Given the description of an element on the screen output the (x, y) to click on. 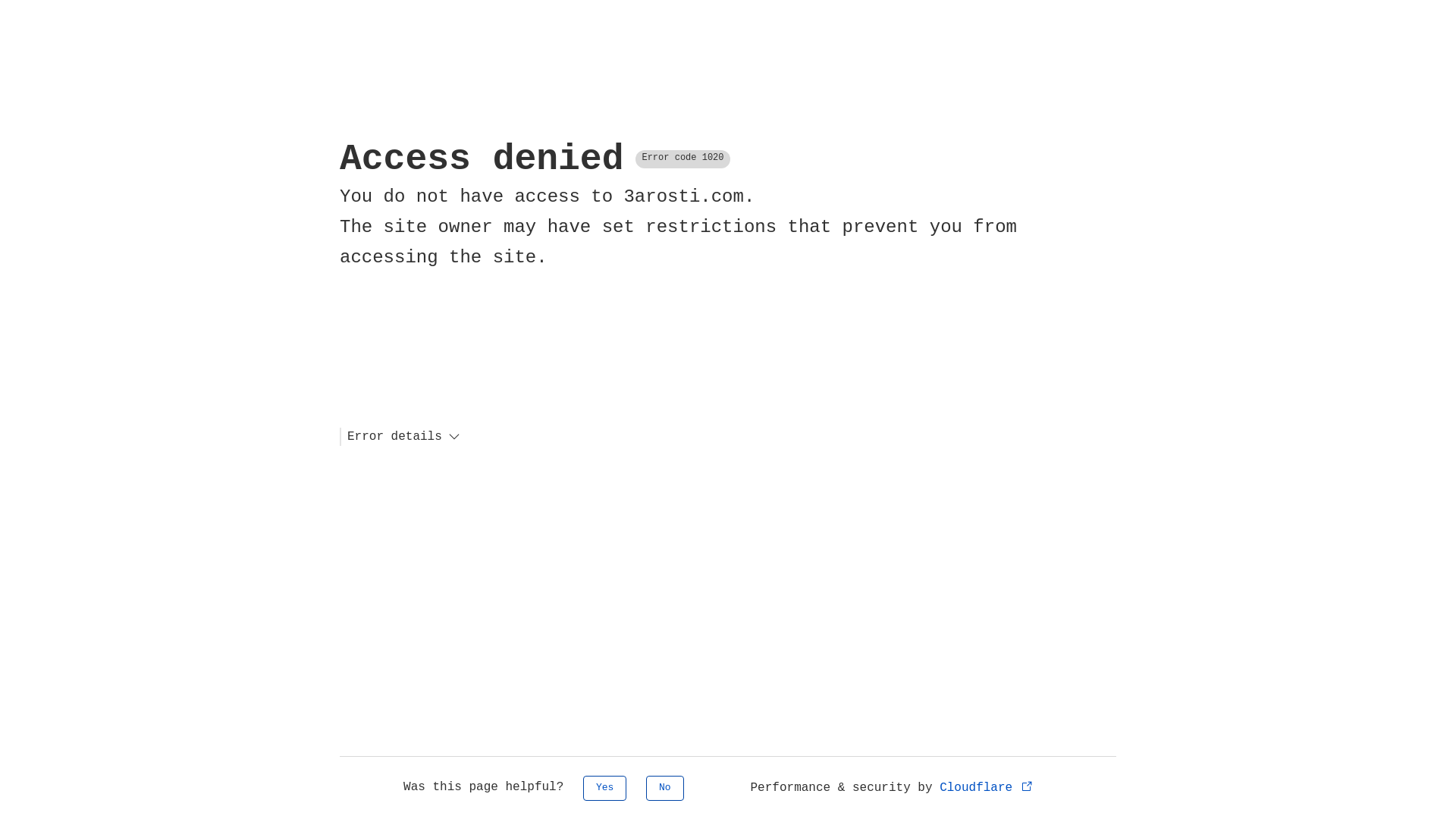
Yes Element type: text (604, 787)
No Element type: text (665, 787)
Opens in new tab Element type: hover (1027, 785)
Cloudflare Element type: text (986, 787)
